Given the description of an element on the screen output the (x, y) to click on. 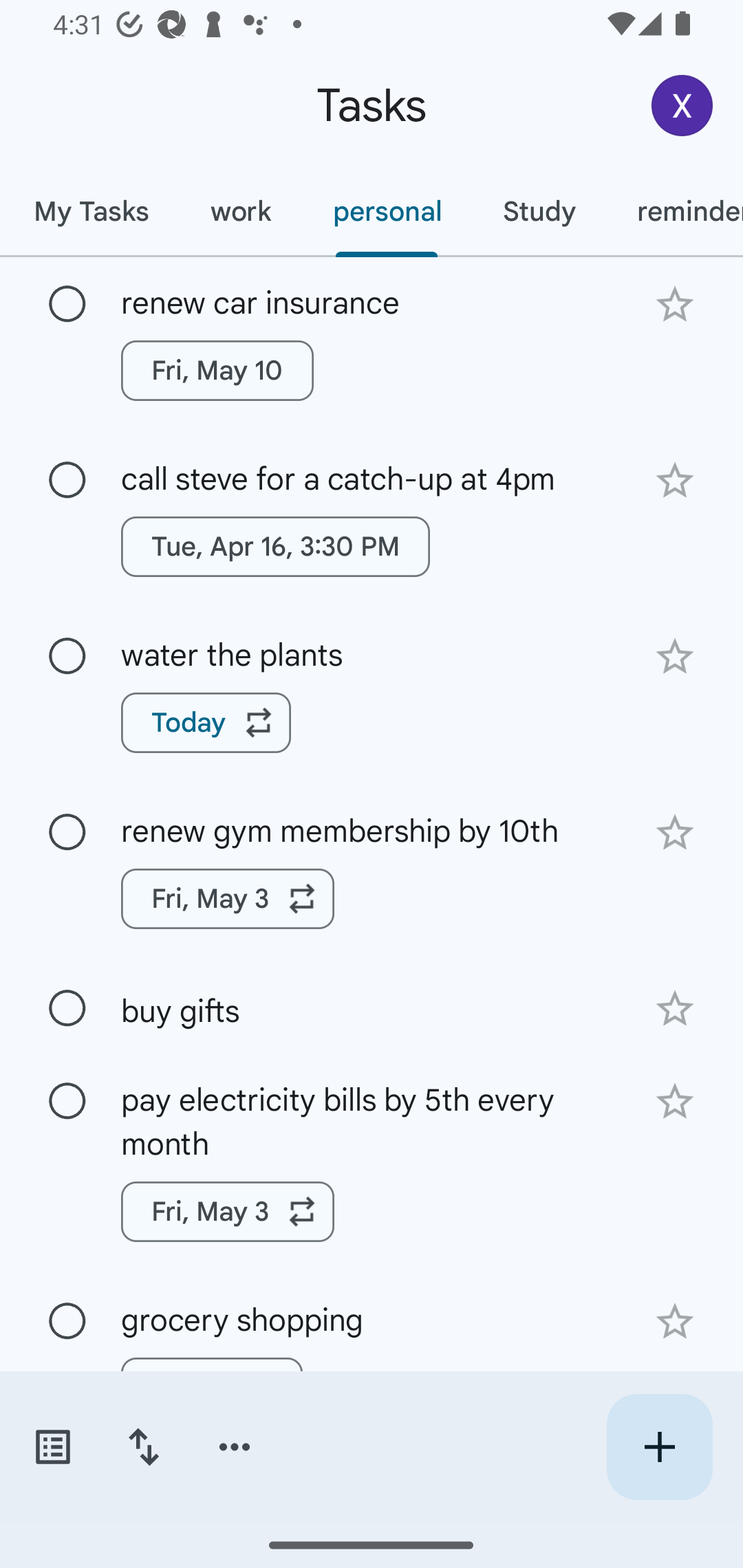
My Tasks (90, 211)
work (240, 211)
Study (538, 211)
reminders (674, 211)
Add star (674, 303)
Mark as complete (67, 304)
Fri, May 10 (217, 369)
Add star (674, 480)
Mark as complete (67, 480)
Tue, Apr 16, 3:30 PM (275, 546)
Add star (674, 656)
Mark as complete (67, 655)
Today (206, 722)
Add star (674, 832)
Mark as complete (67, 833)
Fri, May 3 (227, 897)
buy gifts buy gifts Add star Mark as complete (371, 1007)
Add star (674, 1007)
Mark as complete (67, 1008)
Add star (674, 1101)
Mark as complete (67, 1101)
Fri, May 3 (227, 1211)
Add star (674, 1321)
Mark as complete (67, 1321)
Switch task lists (52, 1447)
Create new task (659, 1446)
Change sort order (143, 1446)
More options (234, 1446)
